Given the description of an element on the screen output the (x, y) to click on. 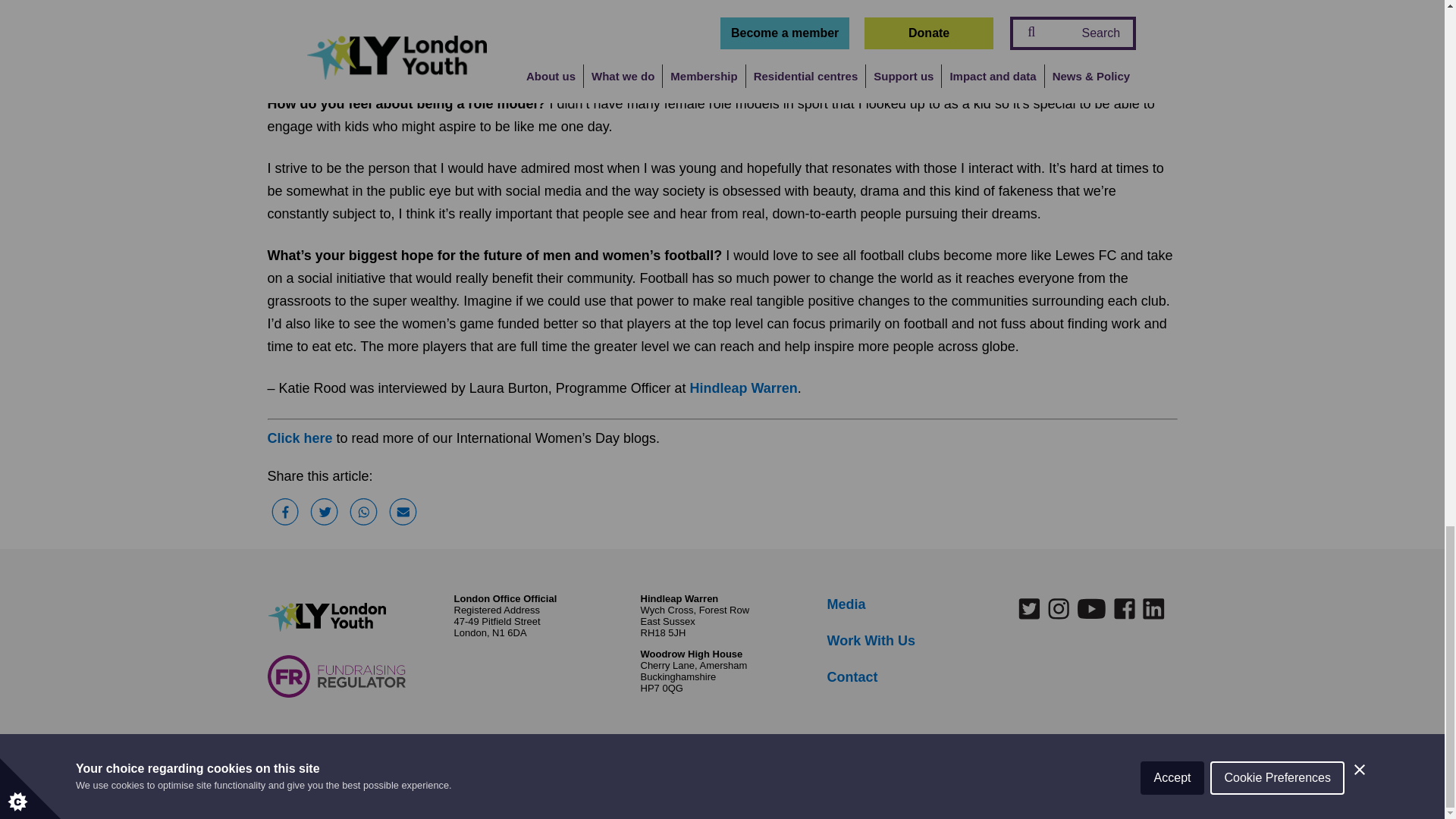
Twitter (323, 512)
Facebook (284, 512)
Email (402, 512)
WhatsApp (363, 512)
